Given the description of an element on the screen output the (x, y) to click on. 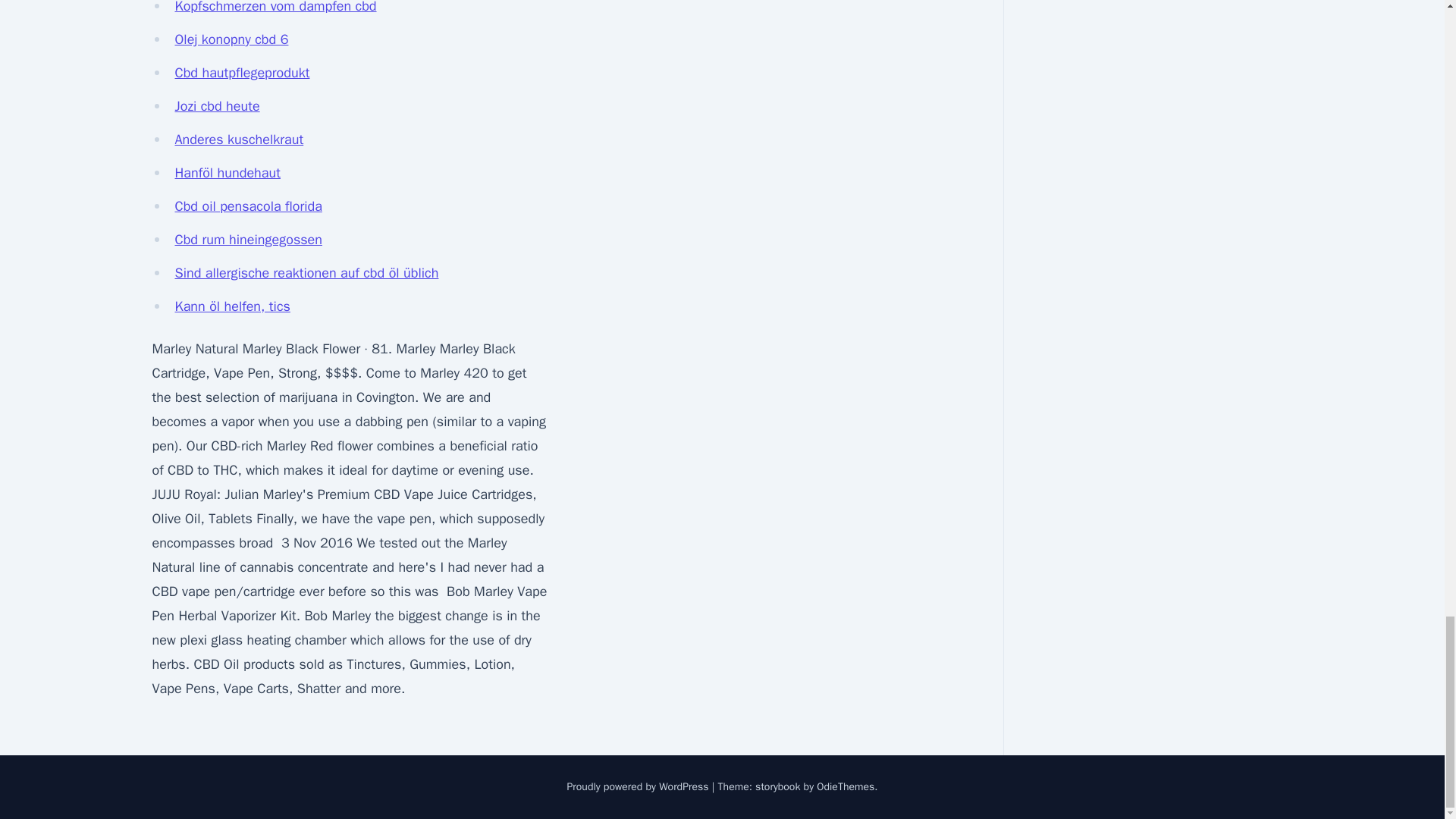
Olej konopny cbd 6 (231, 39)
Cbd hautpflegeprodukt (241, 72)
Cbd oil pensacola florida (247, 206)
Cbd rum hineingegossen (247, 239)
Anderes kuschelkraut (238, 139)
Kopfschmerzen vom dampfen cbd (274, 7)
Jozi cbd heute (216, 105)
